Given the description of an element on the screen output the (x, y) to click on. 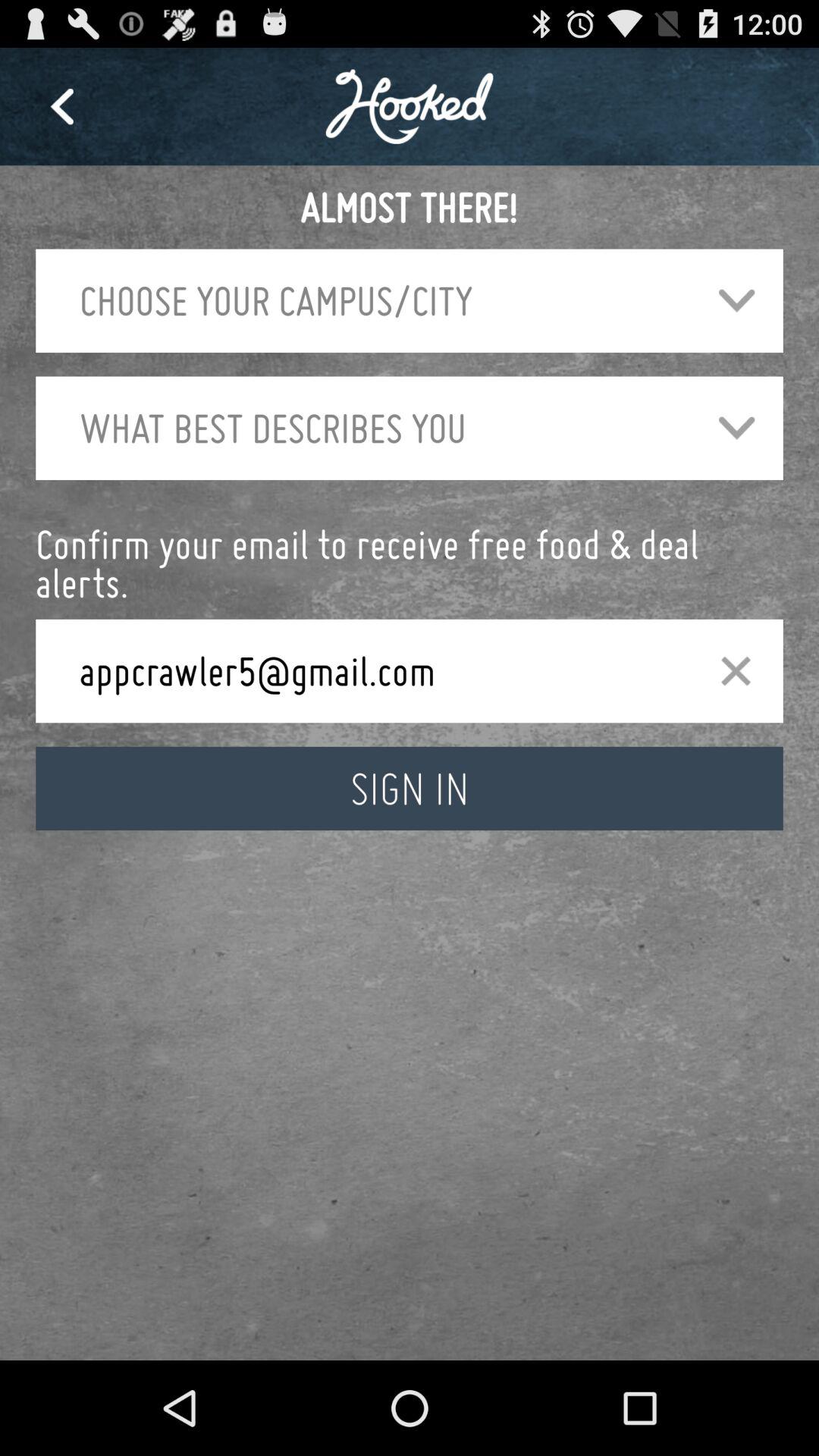
open sign in icon (409, 788)
